Given the description of an element on the screen output the (x, y) to click on. 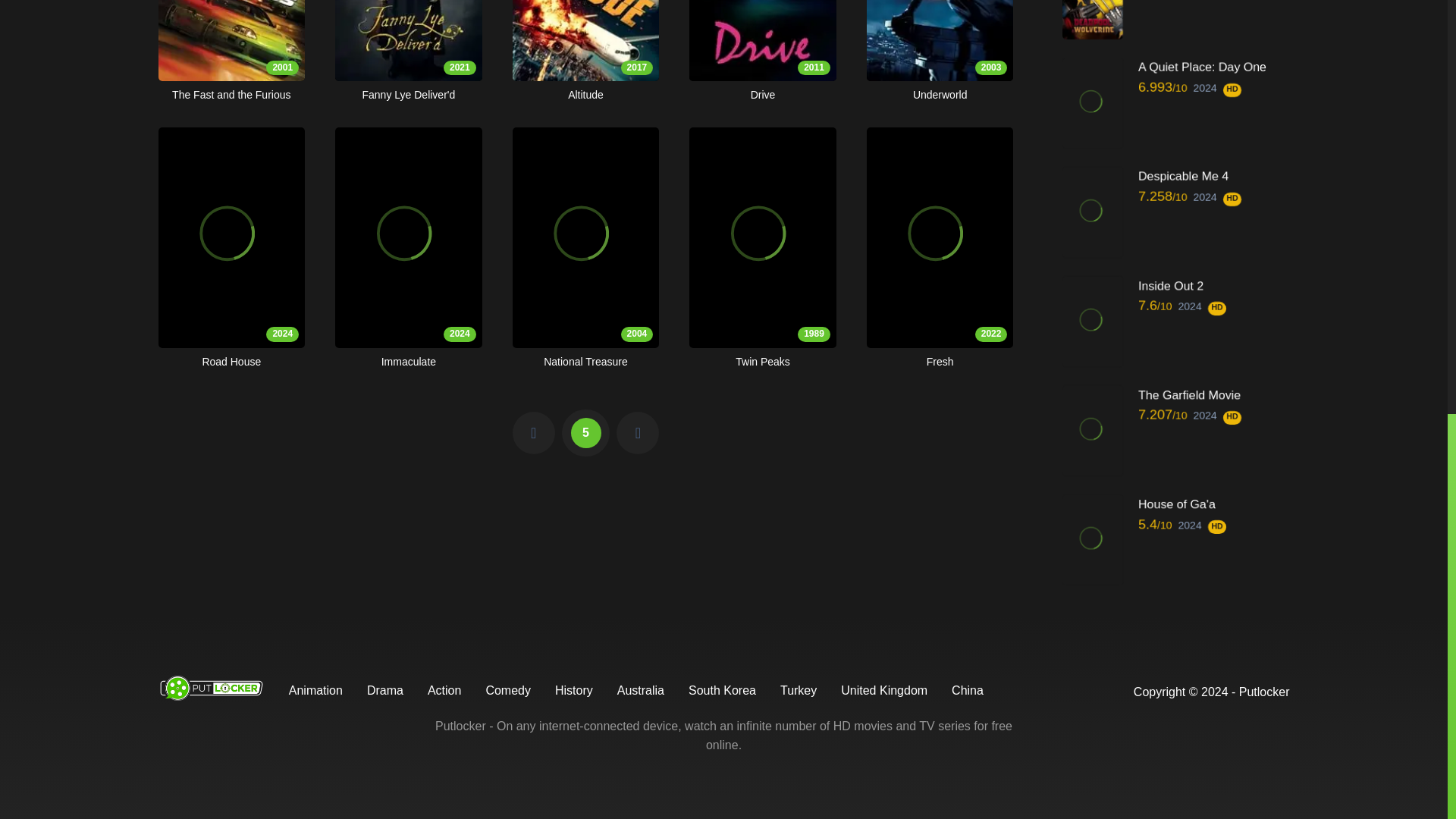
5 (584, 432)
